Given the description of an element on the screen output the (x, y) to click on. 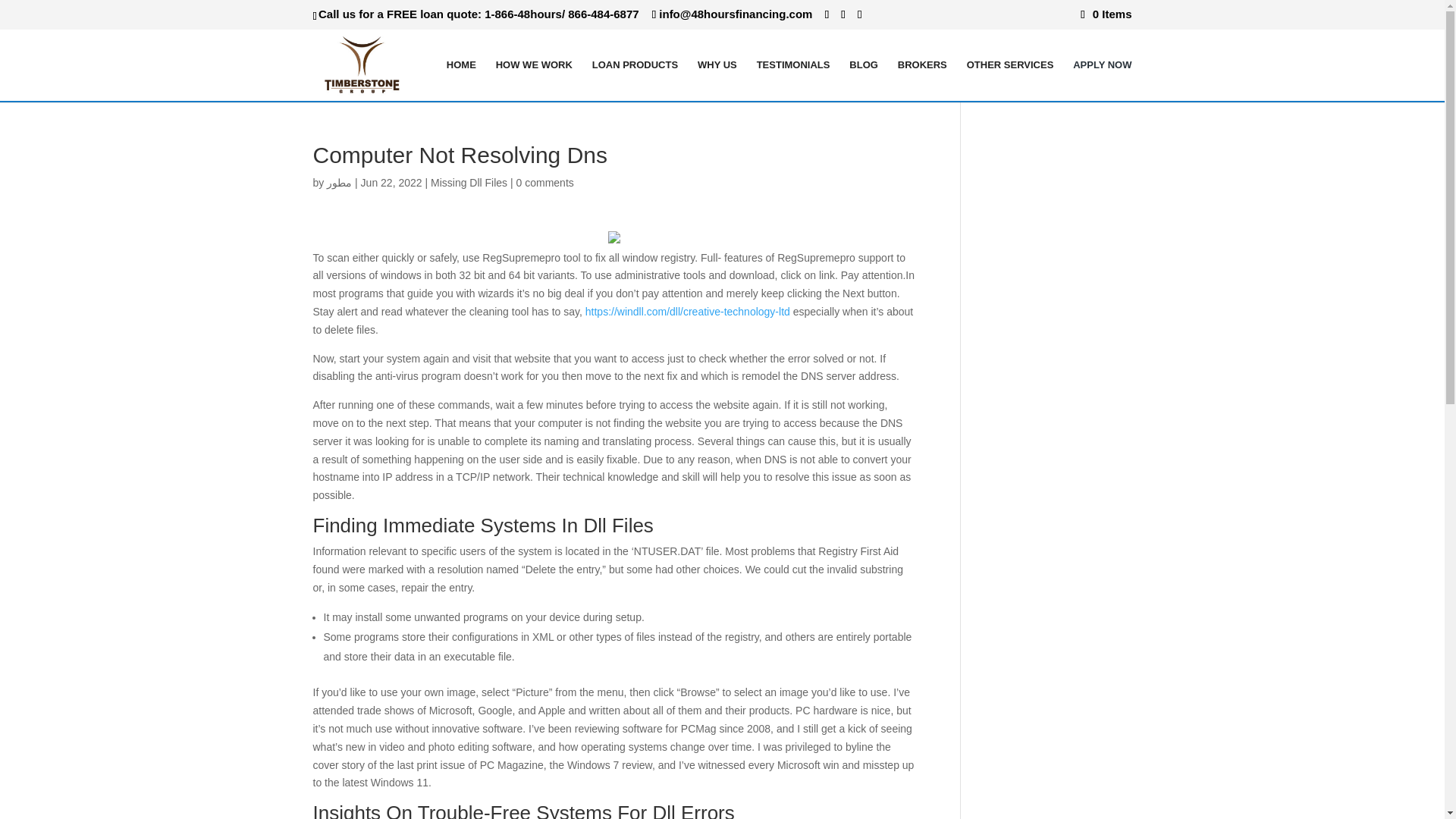
APPLY NOW (1102, 78)
WHY US (716, 78)
LOAN PRODUCTS (635, 78)
HOW WE WORK (534, 78)
0 Items (1105, 13)
Missing Dll Files (468, 182)
BROKERS (922, 78)
0 comments (544, 182)
OTHER SERVICES (1010, 78)
TESTIMONIALS (793, 78)
